Given the description of an element on the screen output the (x, y) to click on. 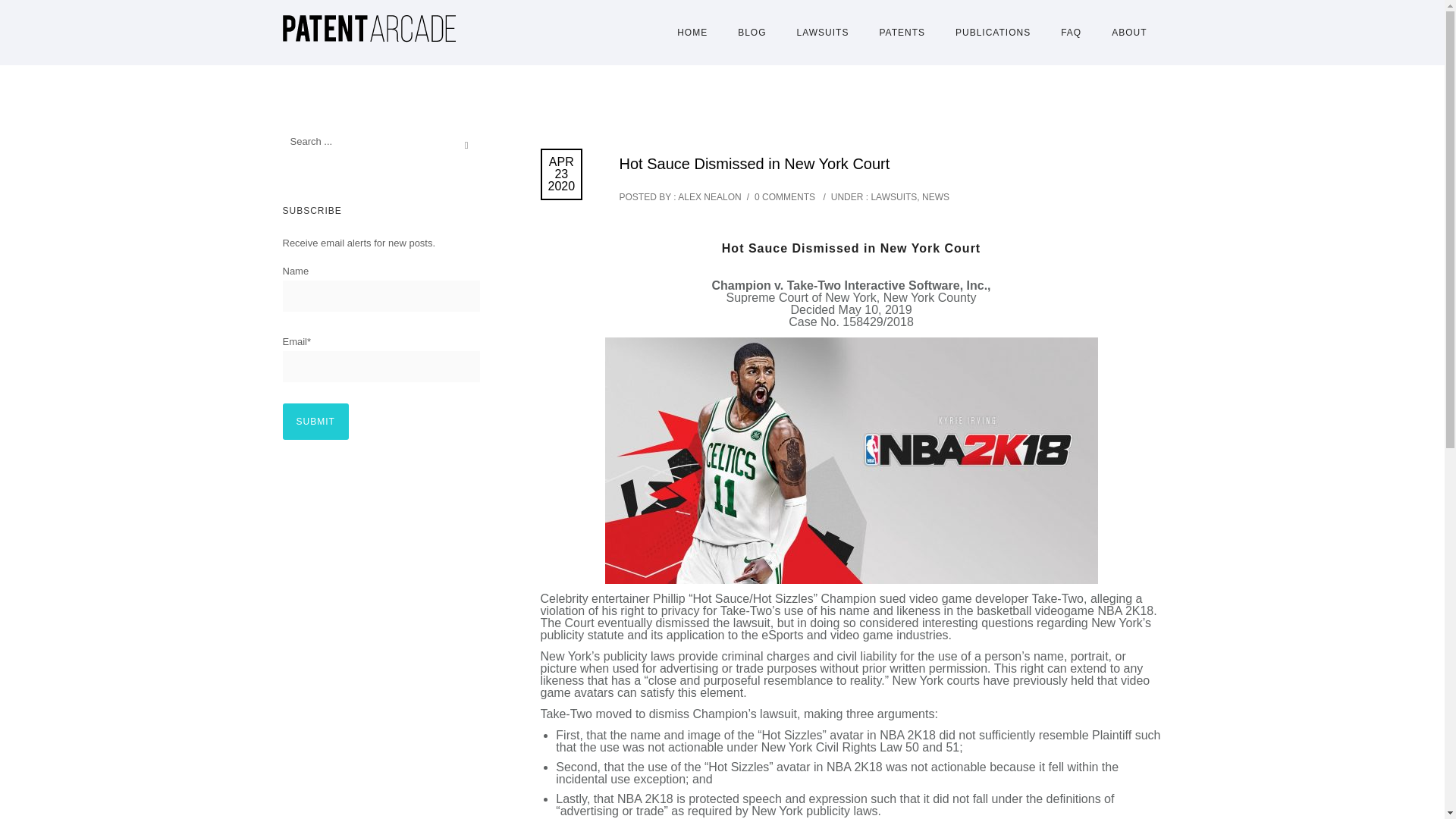
PUBLICATIONS (992, 32)
LAWSUITS (892, 196)
Home (692, 32)
Submit (314, 421)
Patents (901, 32)
Blog (751, 32)
BLOG (751, 32)
ALEX NEALON (709, 196)
NEWS (935, 196)
ABOUT (1128, 32)
